Given the description of an element on the screen output the (x, y) to click on. 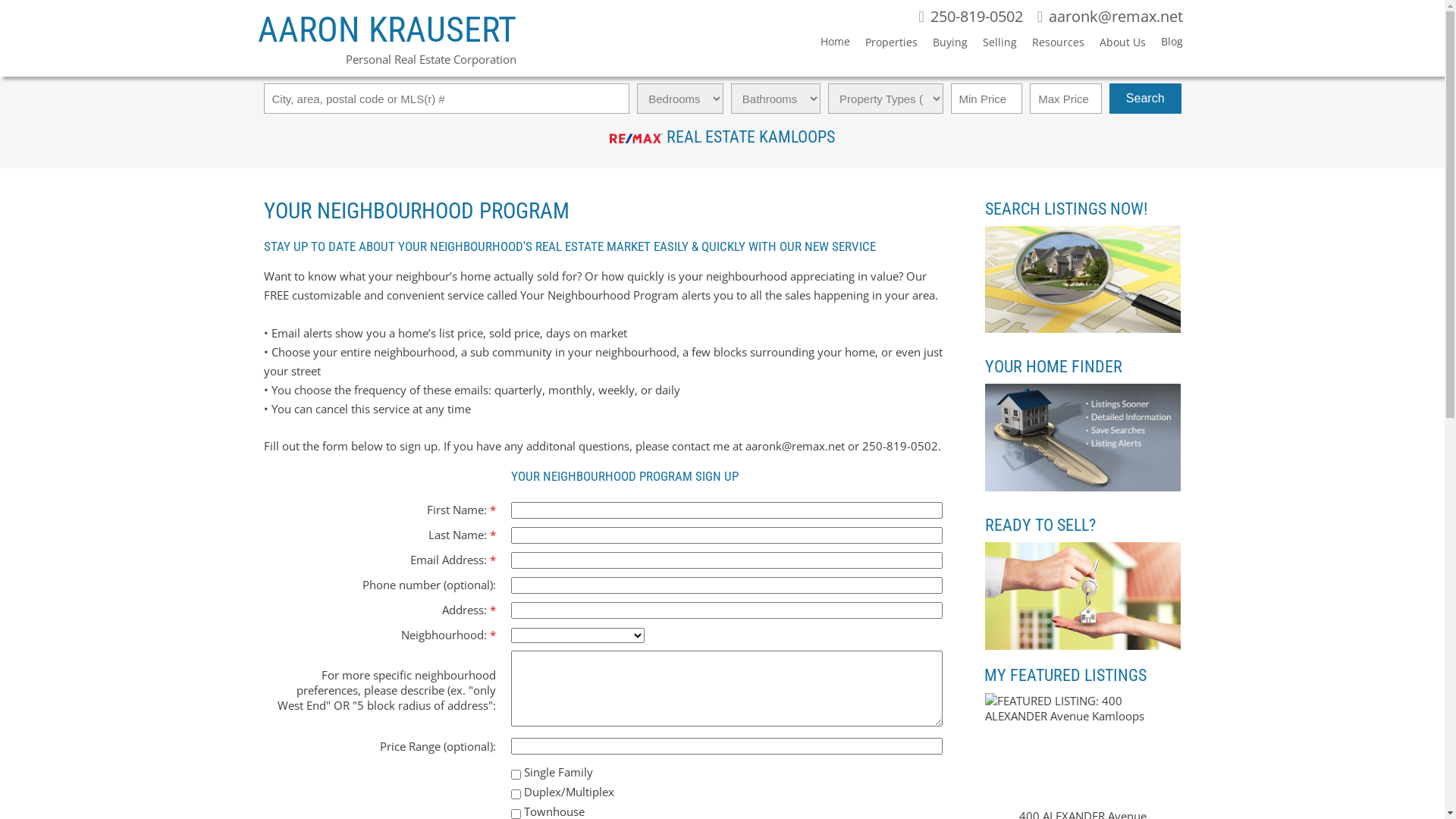
Home Element type: text (827, 44)
250-819-0502 Element type: text (970, 17)
Resources Element type: text (1050, 44)
aaronk@remax.net Element type: text (1110, 17)
Search Element type: text (1145, 98)
Buying Element type: text (942, 44)
Properties Element type: text (883, 44)
About Us Element type: text (1114, 44)
Blog Element type: text (1164, 44)
Selling Element type: text (991, 44)
